Given the description of an element on the screen output the (x, y) to click on. 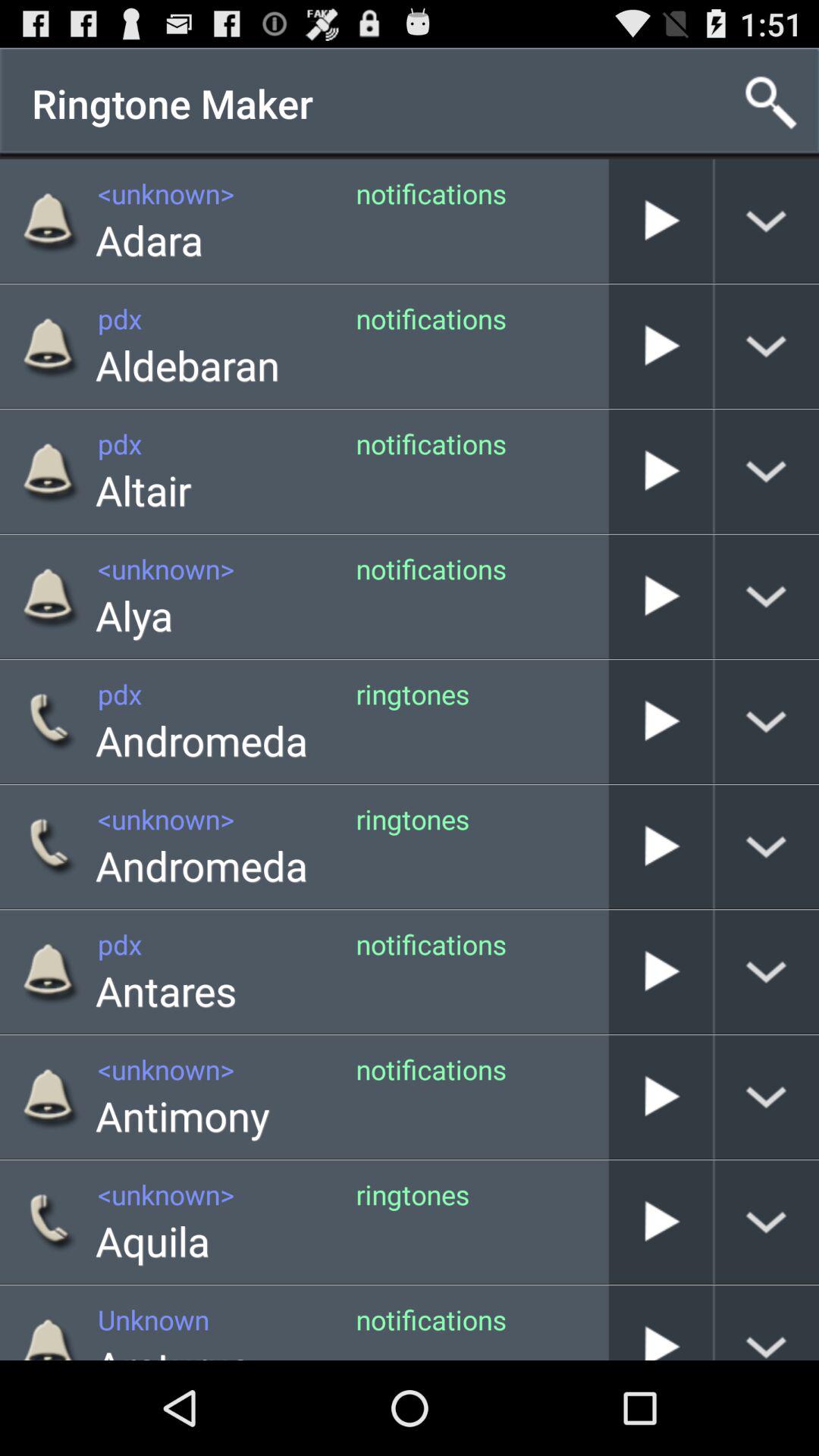
toggle autoplay option (660, 846)
